Given the description of an element on the screen output the (x, y) to click on. 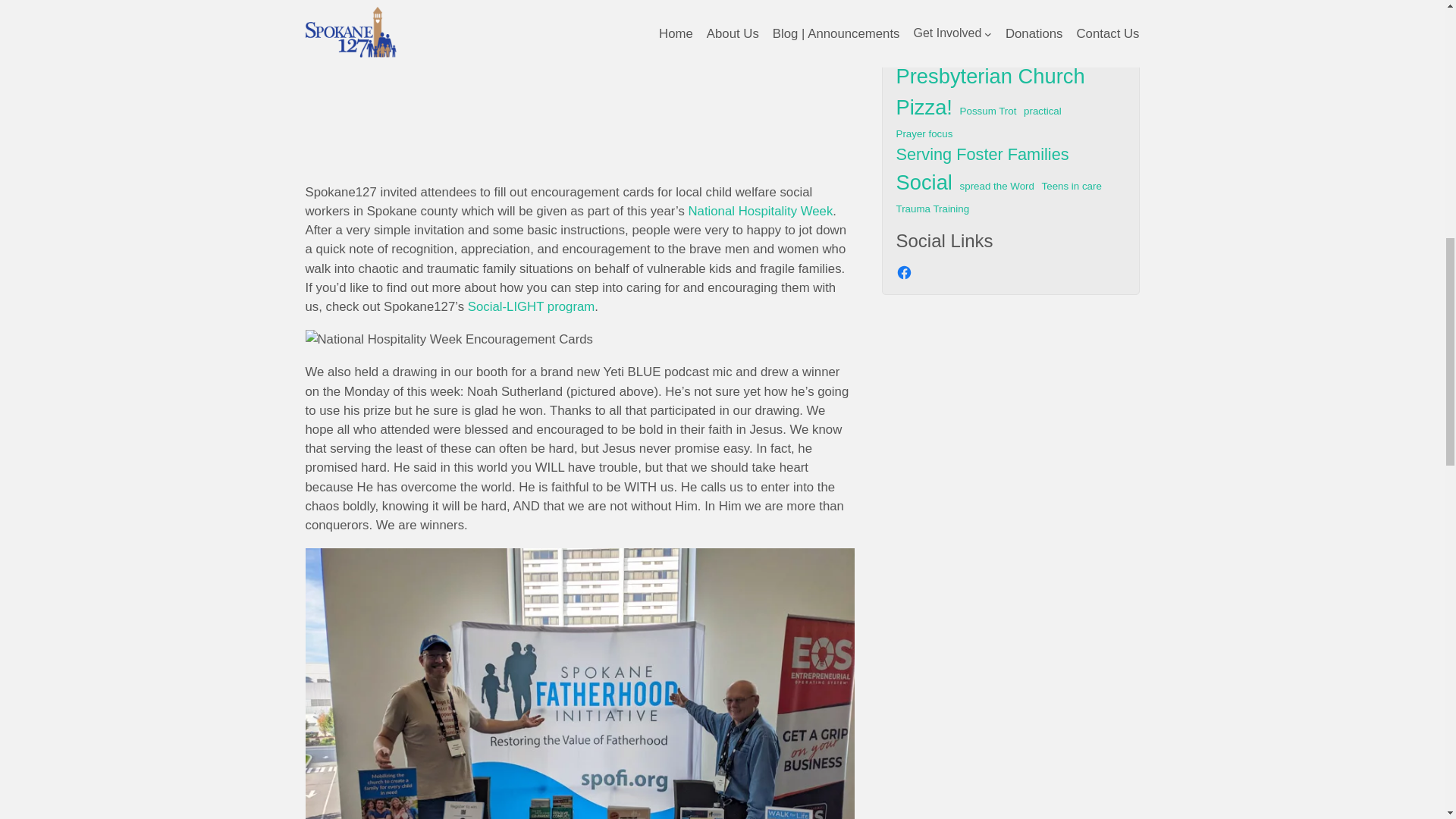
Good Eats (919, 21)
National Hospitality Week (759, 210)
Opportunity Presbyterian Church (1008, 61)
Family (1010, 4)
Dinner on us (943, 5)
February (1053, 4)
Social-LIGHT program (531, 306)
Pizza! (924, 107)
ice cream (972, 21)
